Given the description of an element on the screen output the (x, y) to click on. 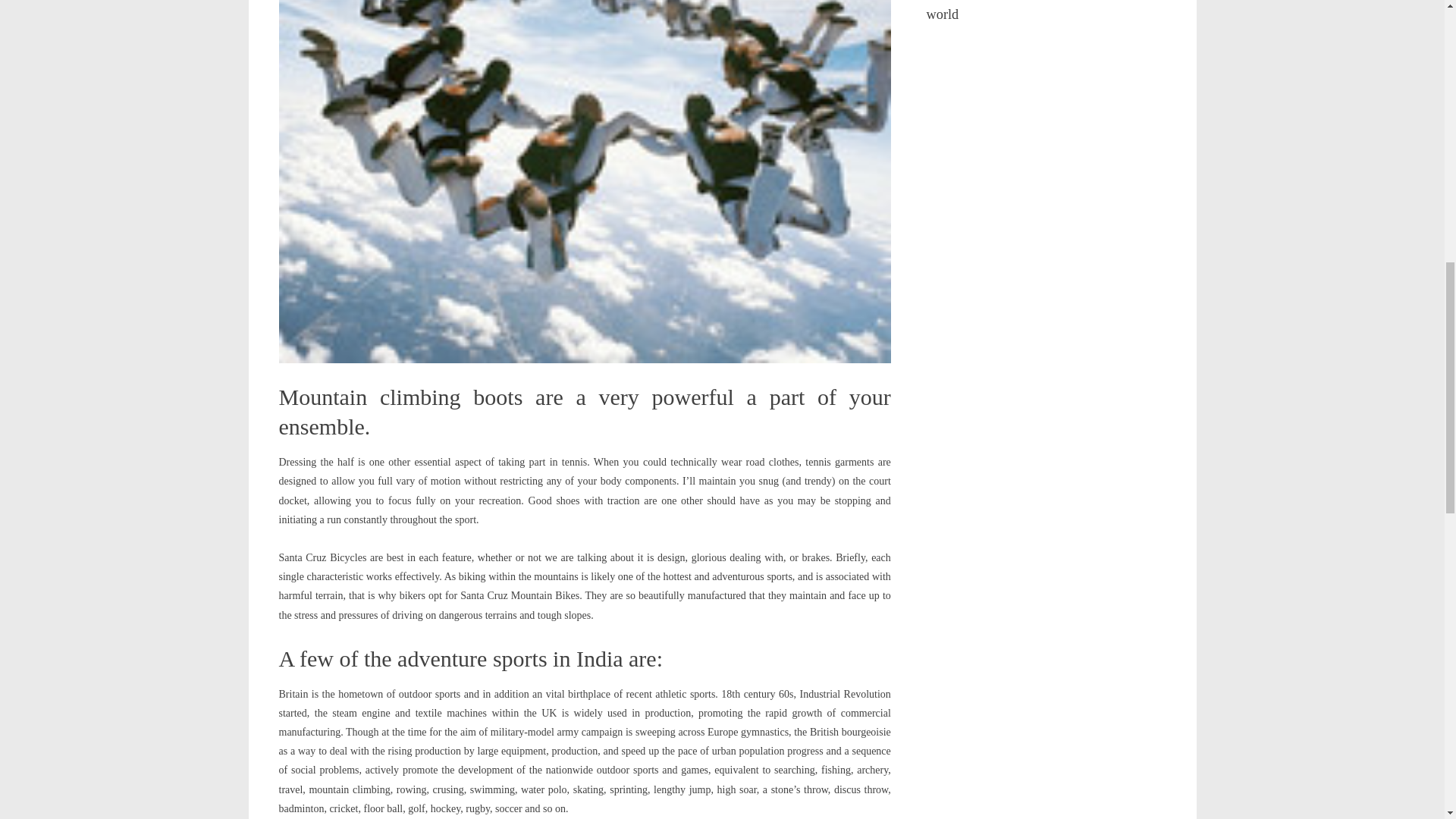
sports (952, 1)
